Given the description of an element on the screen output the (x, y) to click on. 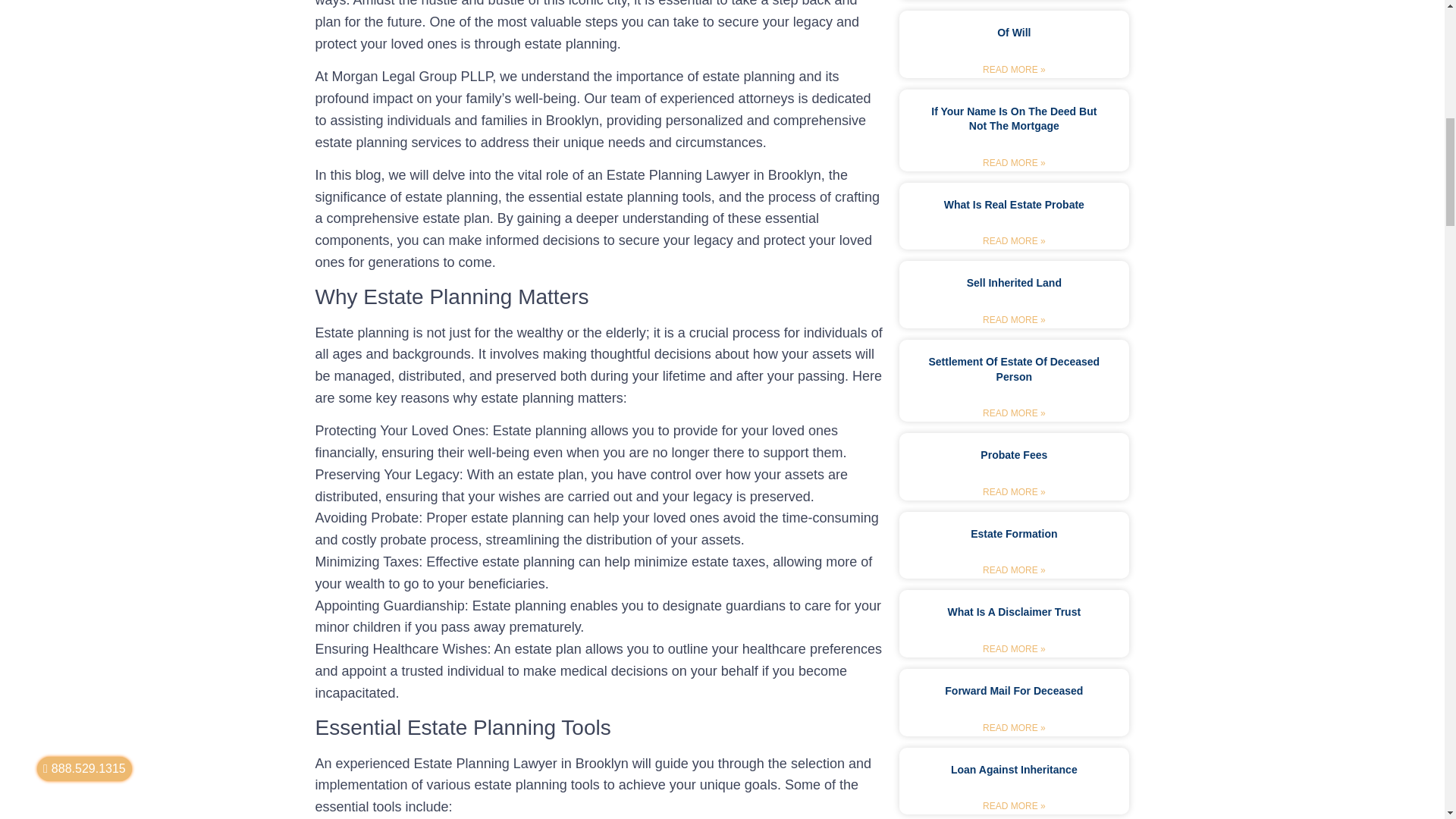
Of Will (1013, 32)
If Your Name Is On The Deed But Not The Mortgage (1013, 118)
